Given the description of an element on the screen output the (x, y) to click on. 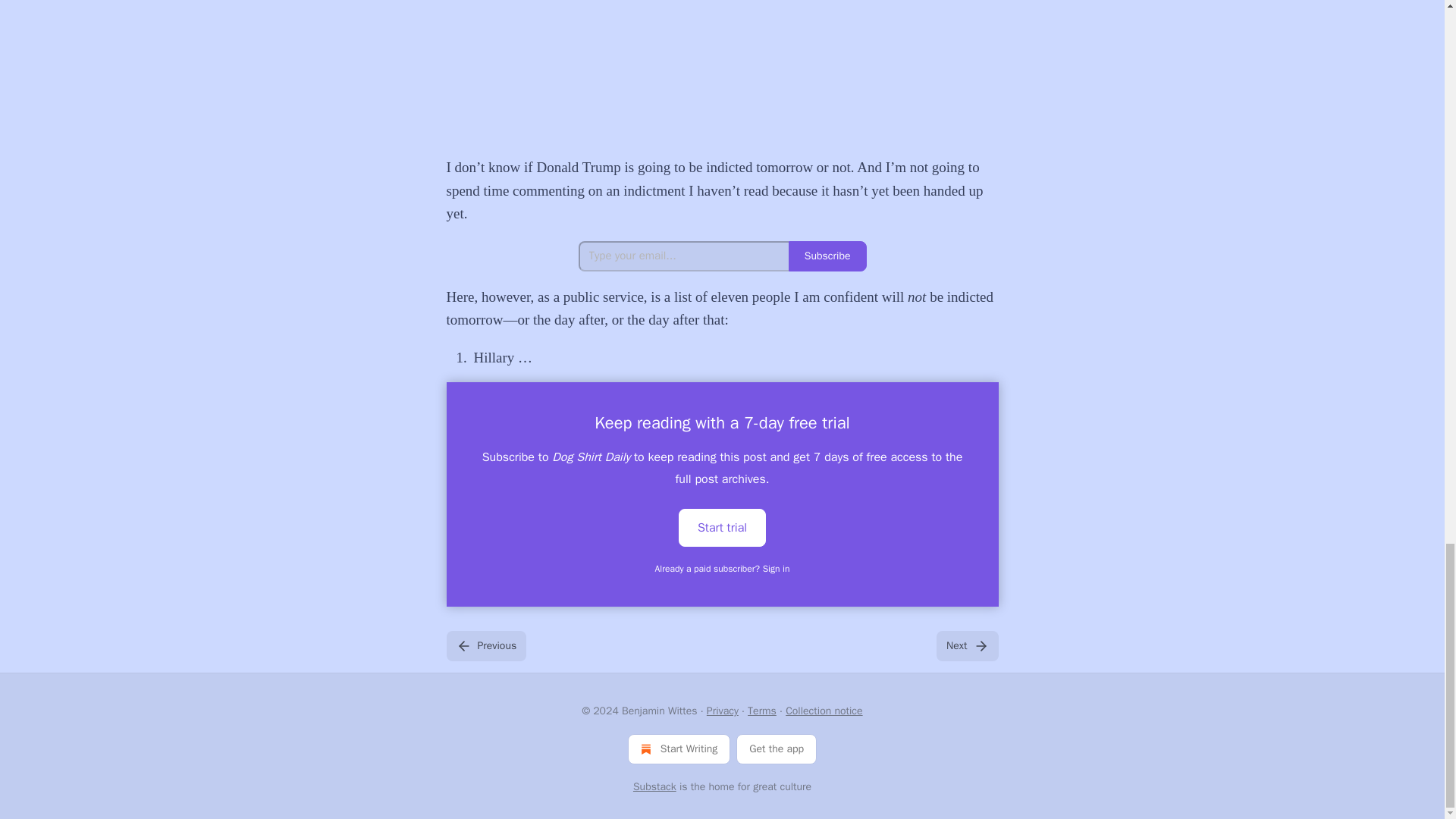
Next (966, 645)
Privacy (722, 710)
Start trial (721, 526)
Collection notice (823, 710)
Terms (762, 710)
Previous (485, 645)
Start trial (721, 527)
Start Writing (678, 748)
Substack (655, 786)
Get the app (776, 748)
Already a paid subscriber? Sign in (722, 568)
Subscribe (827, 255)
